Given the description of an element on the screen output the (x, y) to click on. 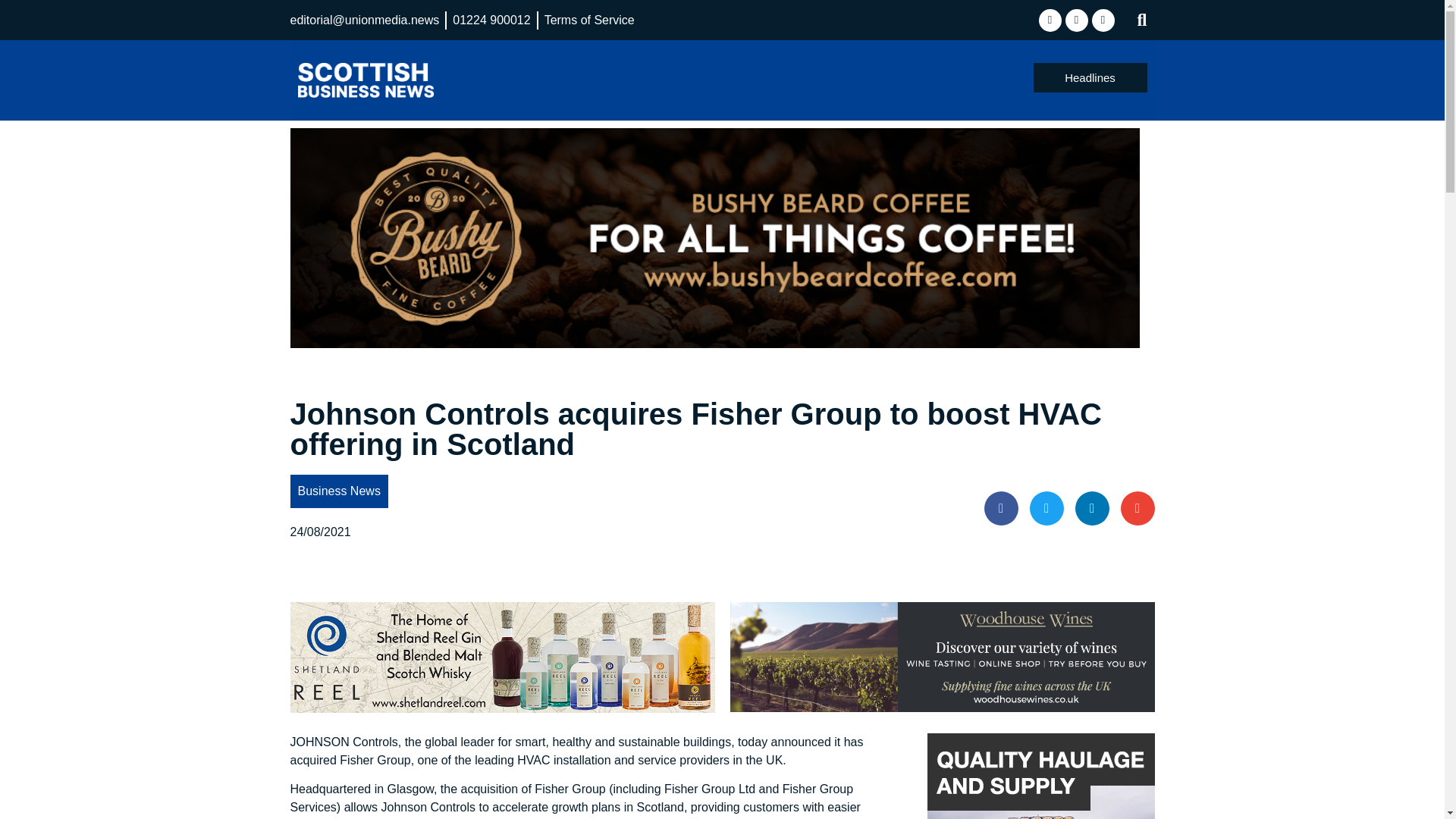
Business News (489, 78)
01224 900012 (490, 19)
Legal (685, 78)
Terms of Service (589, 19)
Sectors (850, 78)
Property (791, 78)
People (734, 78)
